Given the description of an element on the screen output the (x, y) to click on. 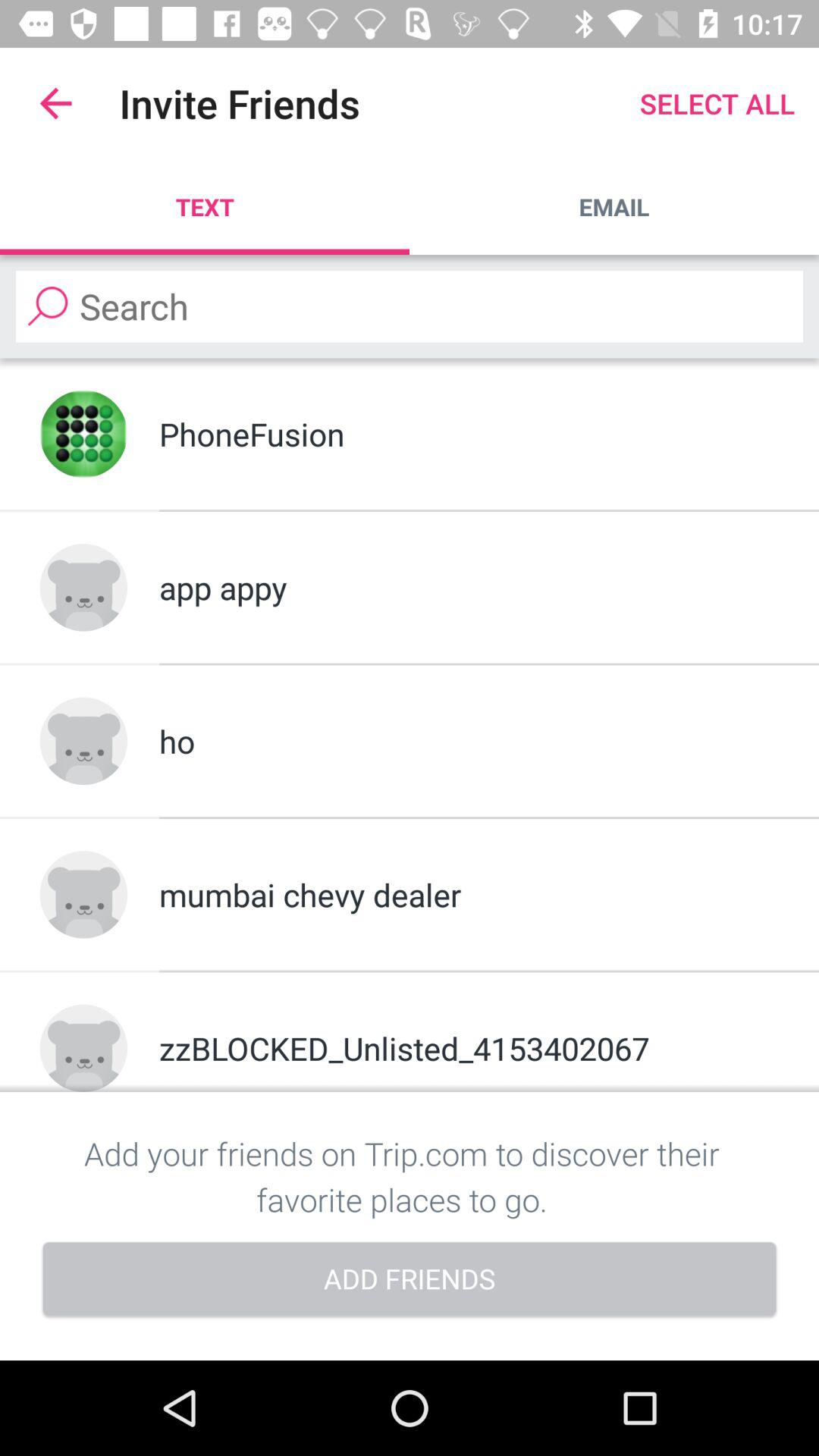
click item below select all item (614, 206)
